Given the description of an element on the screen output the (x, y) to click on. 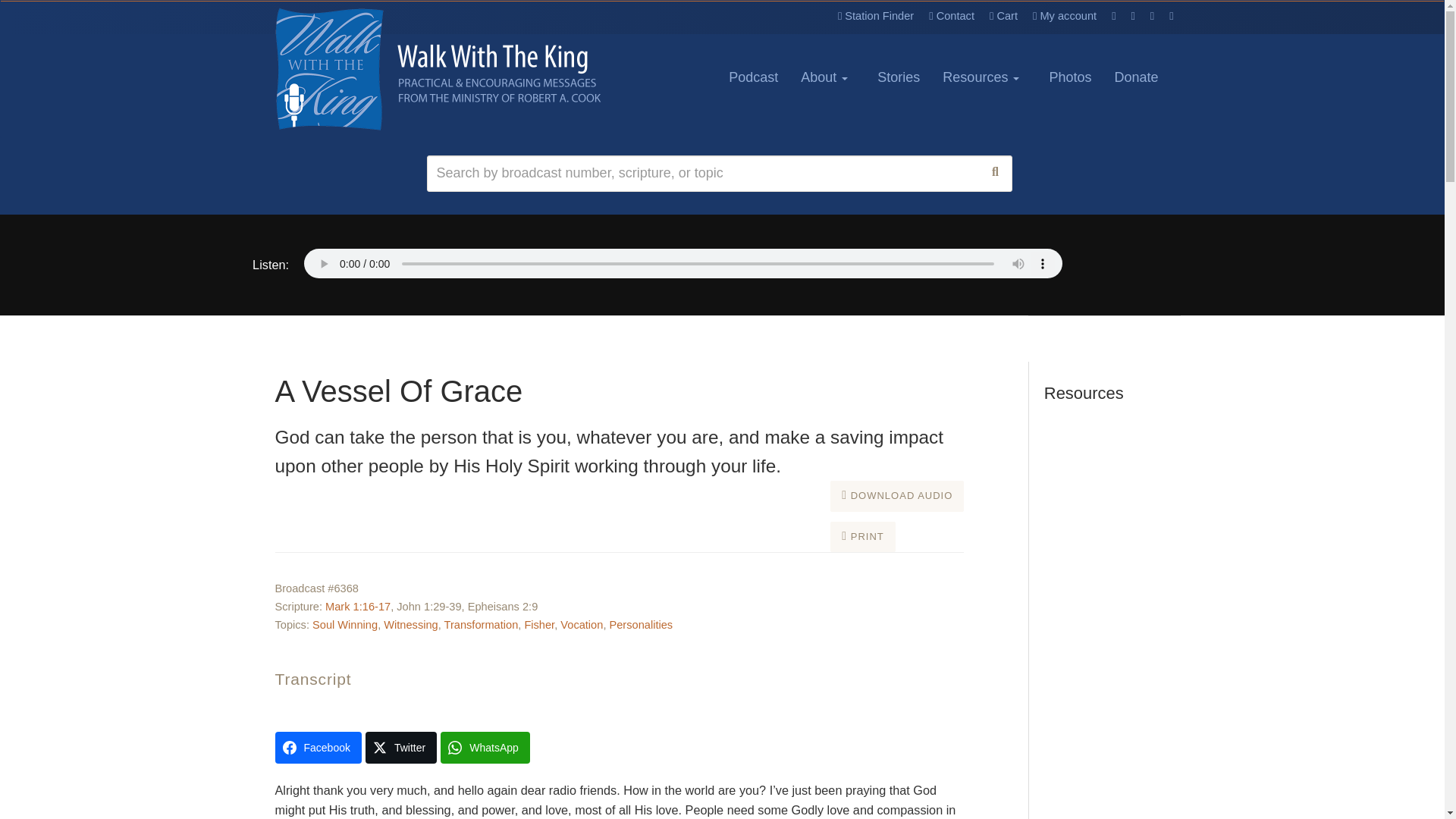
Cart (1003, 8)
Share on WhatsApp (485, 747)
Donate (1135, 77)
Station Finder (875, 8)
Fisher (539, 624)
Personalities (641, 624)
Witnessing (411, 624)
Photos (1069, 77)
Share on Facebook (318, 747)
PRINT (862, 536)
